Given the description of an element on the screen output the (x, y) to click on. 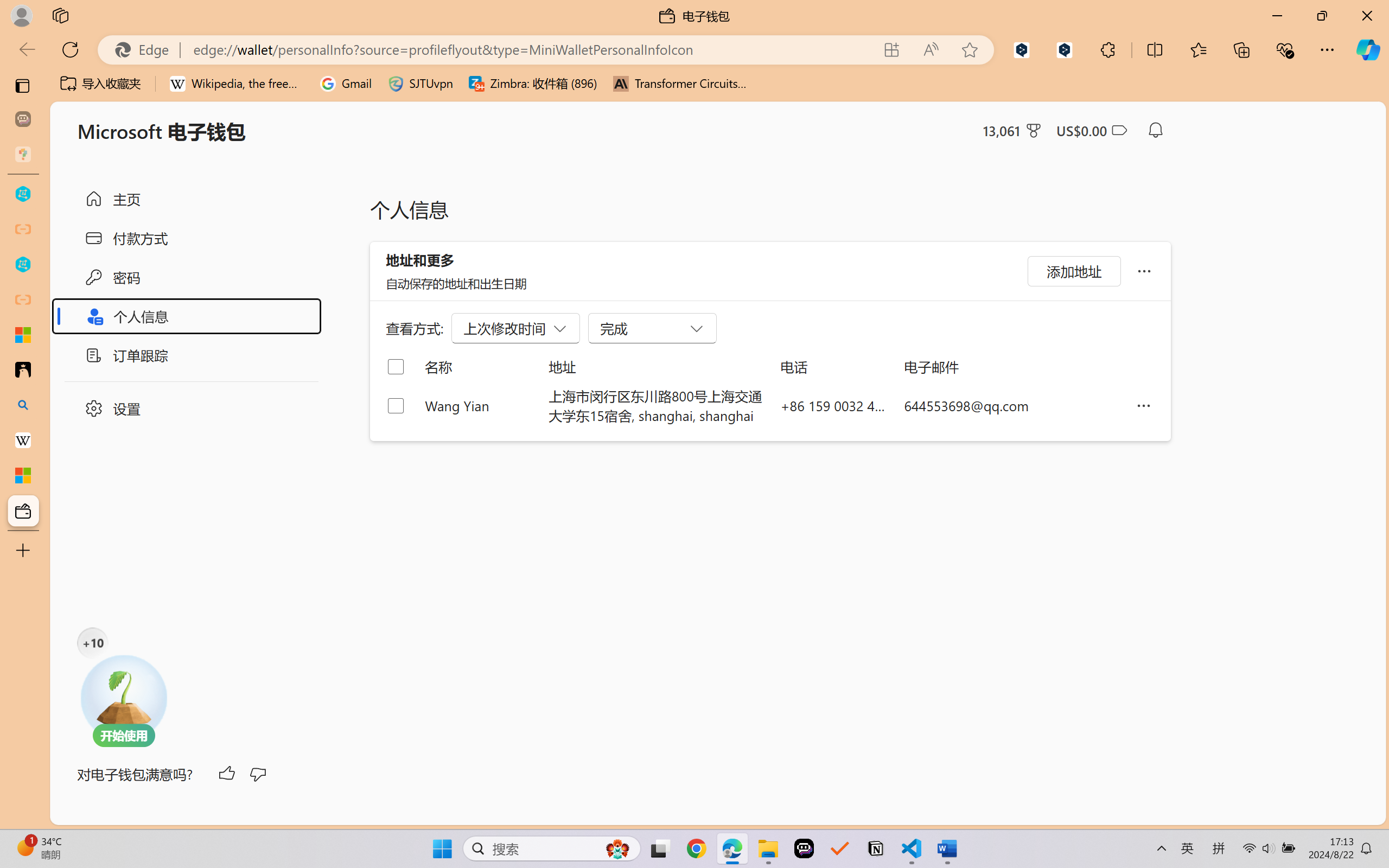
+86 159 0032 4640 (832, 405)
Gmail (345, 83)
644553698@qq.com (1011, 405)
